Given the description of an element on the screen output the (x, y) to click on. 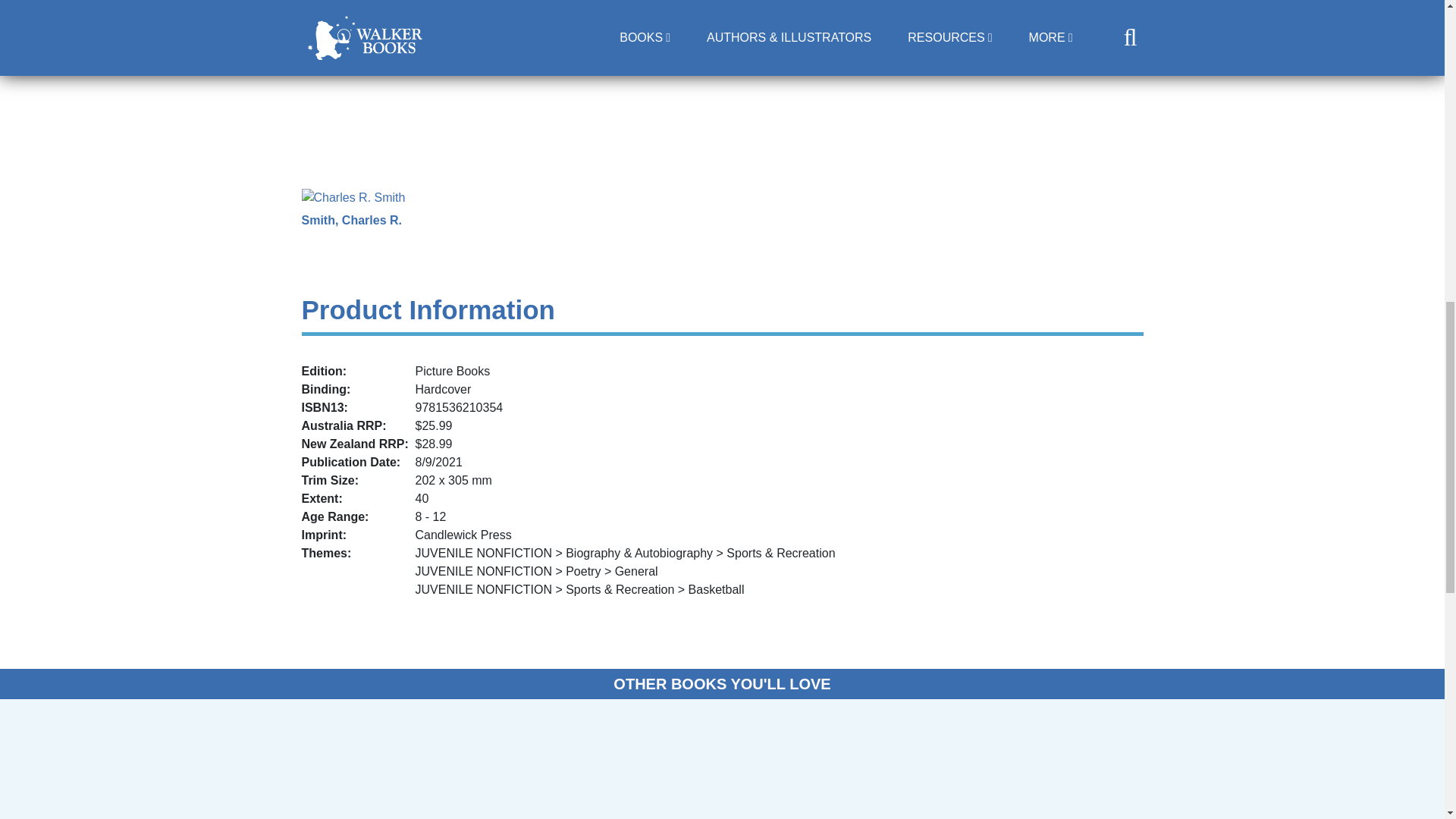
Smith, Charles R. (351, 219)
